Given the description of an element on the screen output the (x, y) to click on. 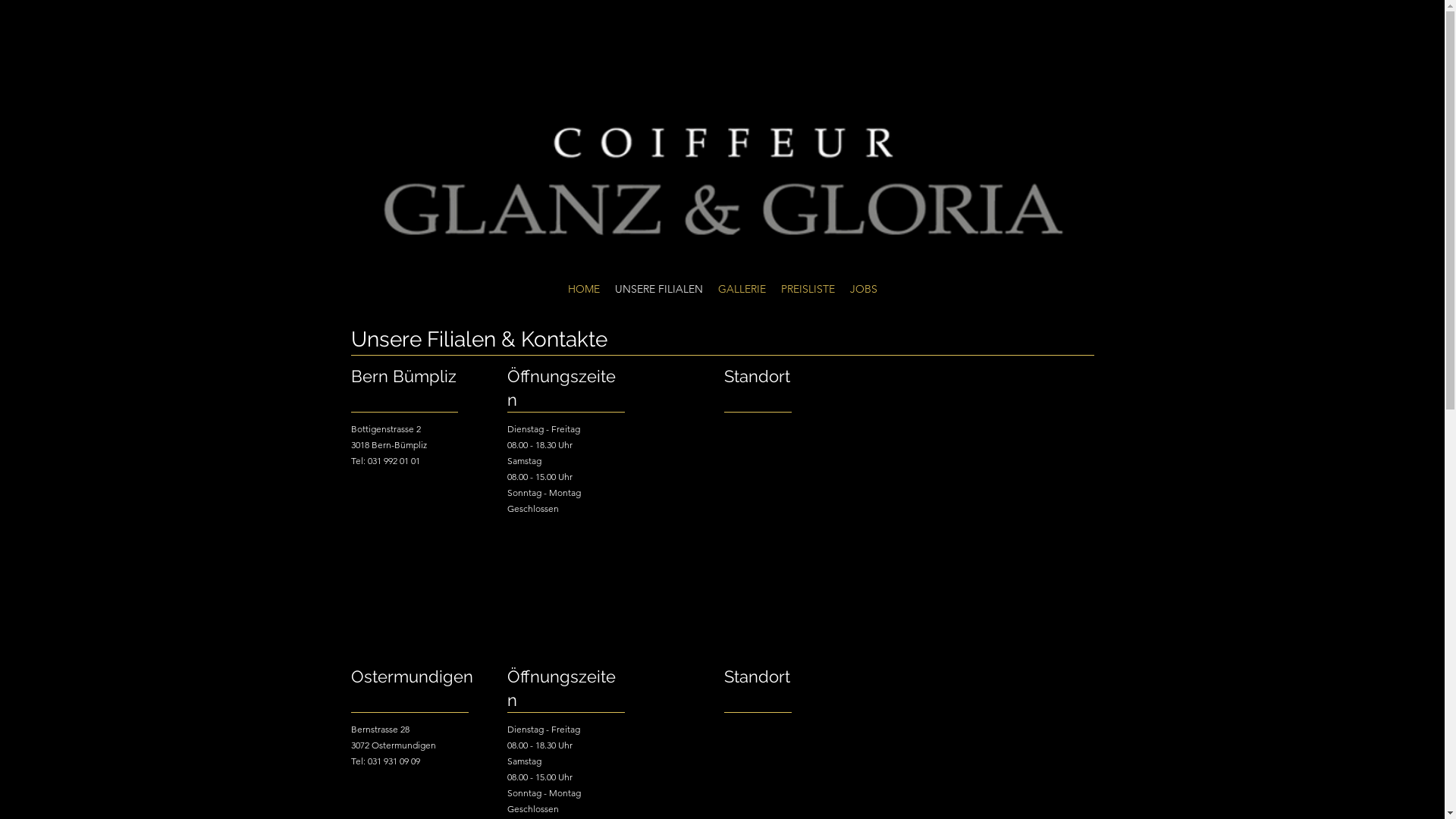
JOBS Element type: text (862, 288)
UNSERE FILIALEN Element type: text (657, 288)
PREISLISTE Element type: text (807, 288)
GALLERIE Element type: text (740, 288)
HOME Element type: text (582, 288)
Google Maps Element type: hover (889, 523)
